Given the description of an element on the screen output the (x, y) to click on. 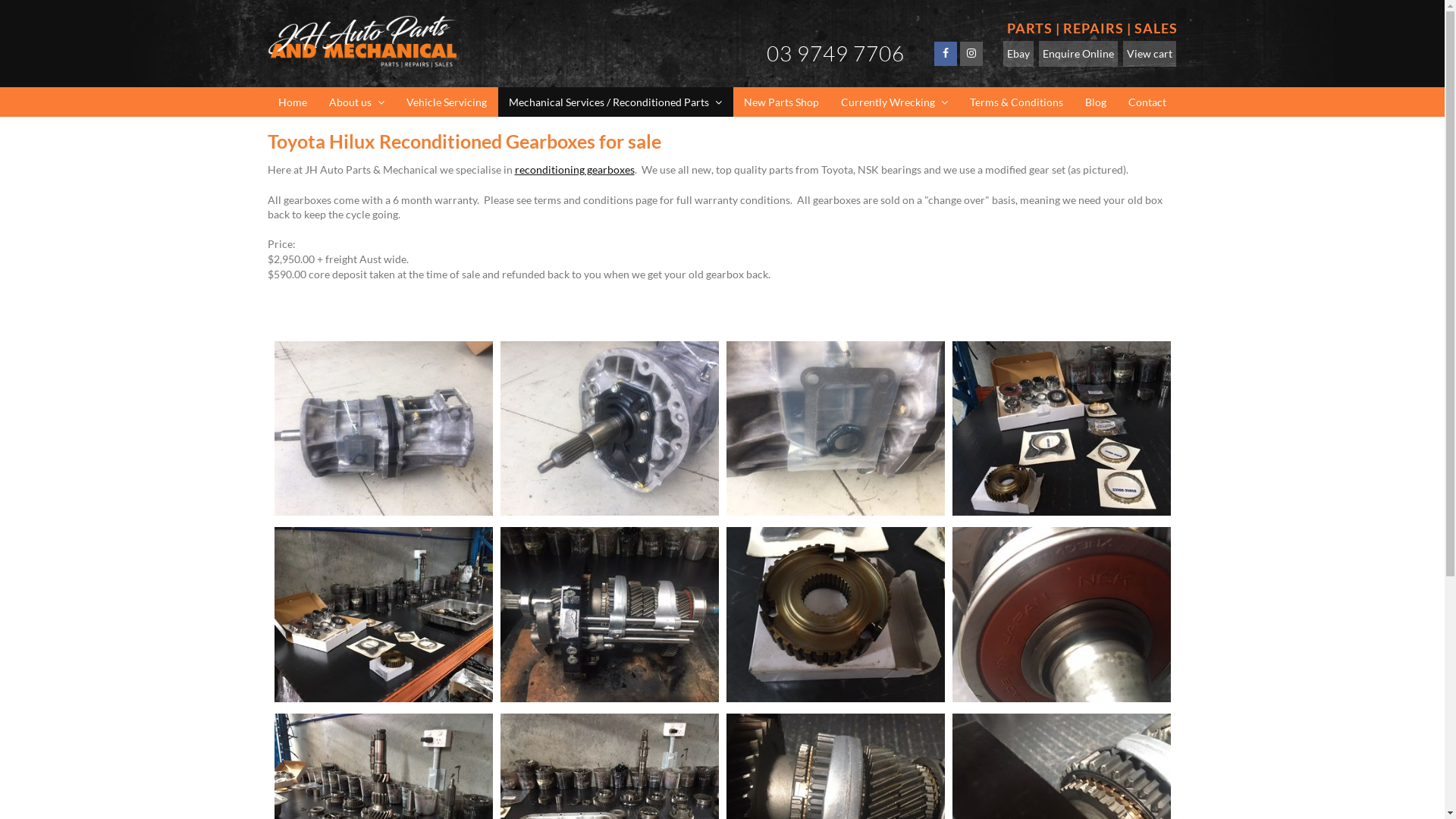
Mechanical Services / Reconditioned Parts Element type: text (614, 102)
Blog Element type: text (1095, 102)
reconditioning gearboxes Element type: text (573, 169)
View cart Element type: text (1148, 53)
New Parts Shop Element type: text (780, 102)
About us Element type: text (356, 102)
Ebay Element type: text (1017, 53)
Contact Element type: text (1147, 102)
Vehicle Servicing Element type: text (446, 102)
Currently Wrecking Element type: text (893, 102)
Terms & Conditions Element type: text (1015, 102)
Home Element type: text (291, 102)
Enquire Online Element type: text (1077, 53)
